Given the description of an element on the screen output the (x, y) to click on. 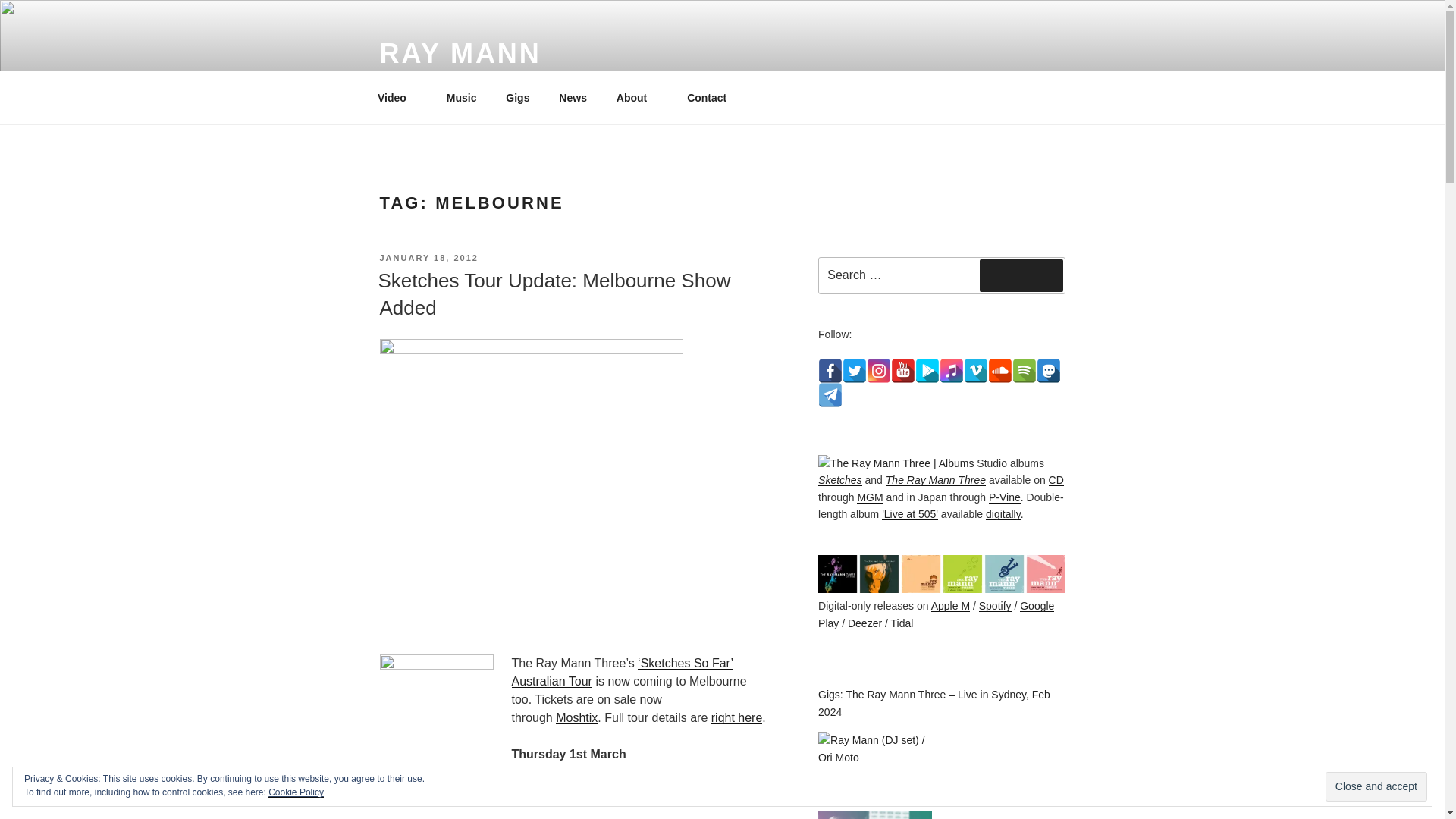
Telegram (830, 395)
About (635, 97)
right here (736, 717)
Instagram (878, 370)
Gigs (518, 97)
RAY MANN (459, 52)
thumb-sketches-sofar-tour-01 (435, 711)
JANUARY 18, 2012 (427, 257)
Close and accept (1375, 786)
Spotify (1023, 370)
